Given the description of an element on the screen output the (x, y) to click on. 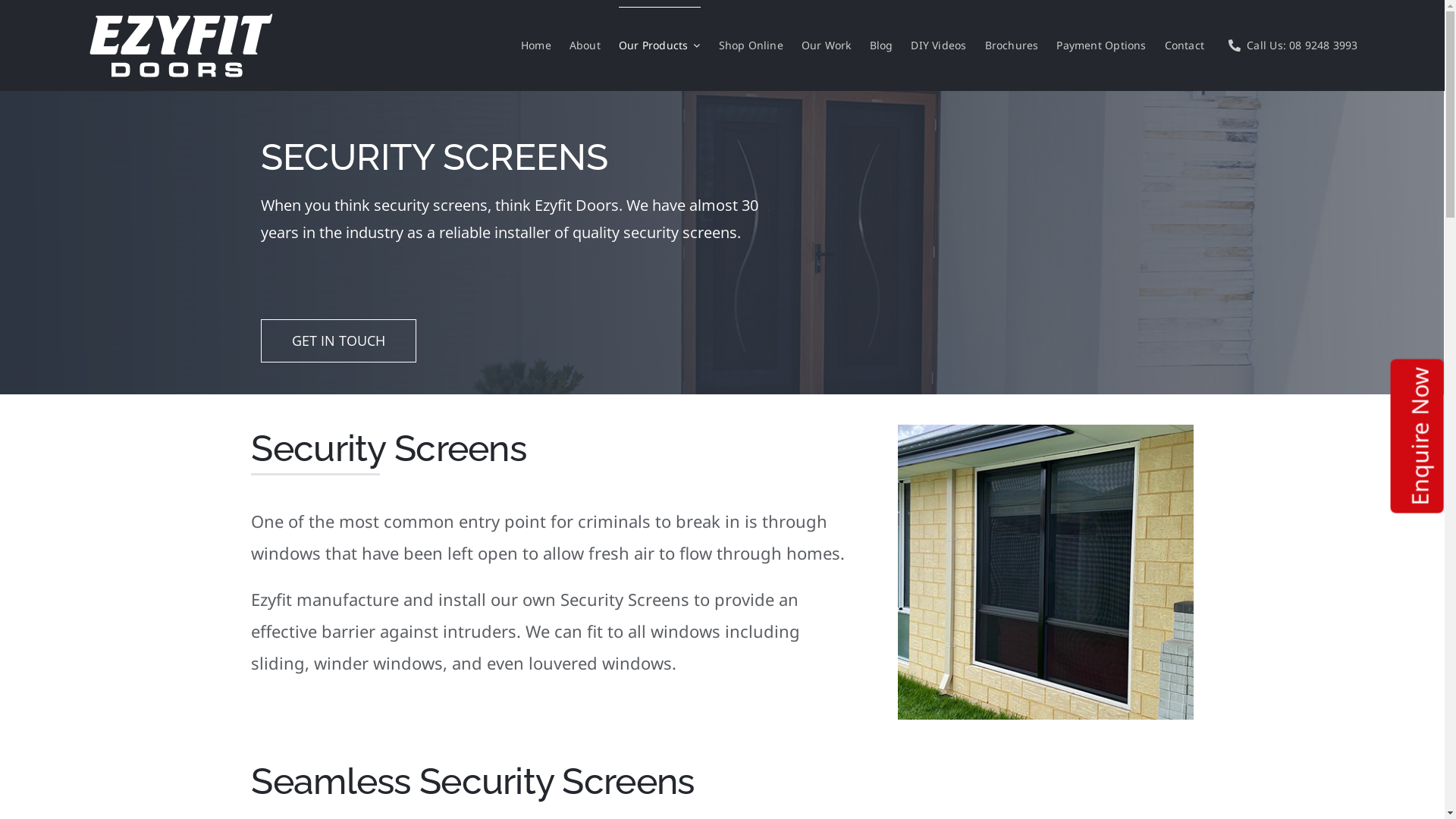
Home Element type: text (535, 44)
Submit Element type: text (1326, 341)
Payment Options Element type: text (1100, 44)
Shop Online Element type: text (750, 44)
GET IN TOUCH Element type: text (338, 340)
Our Work Element type: text (826, 44)
Call Us: 08 9248 3993 Element type: text (1290, 44)
DIY Videos Element type: text (938, 44)
Contact Element type: text (1184, 44)
Security-Screens Element type: hover (1044, 431)
Our Products Element type: text (659, 44)
Brochures Element type: text (1011, 44)
About Element type: text (584, 44)
Blog Element type: text (881, 44)
